Given the description of an element on the screen output the (x, y) to click on. 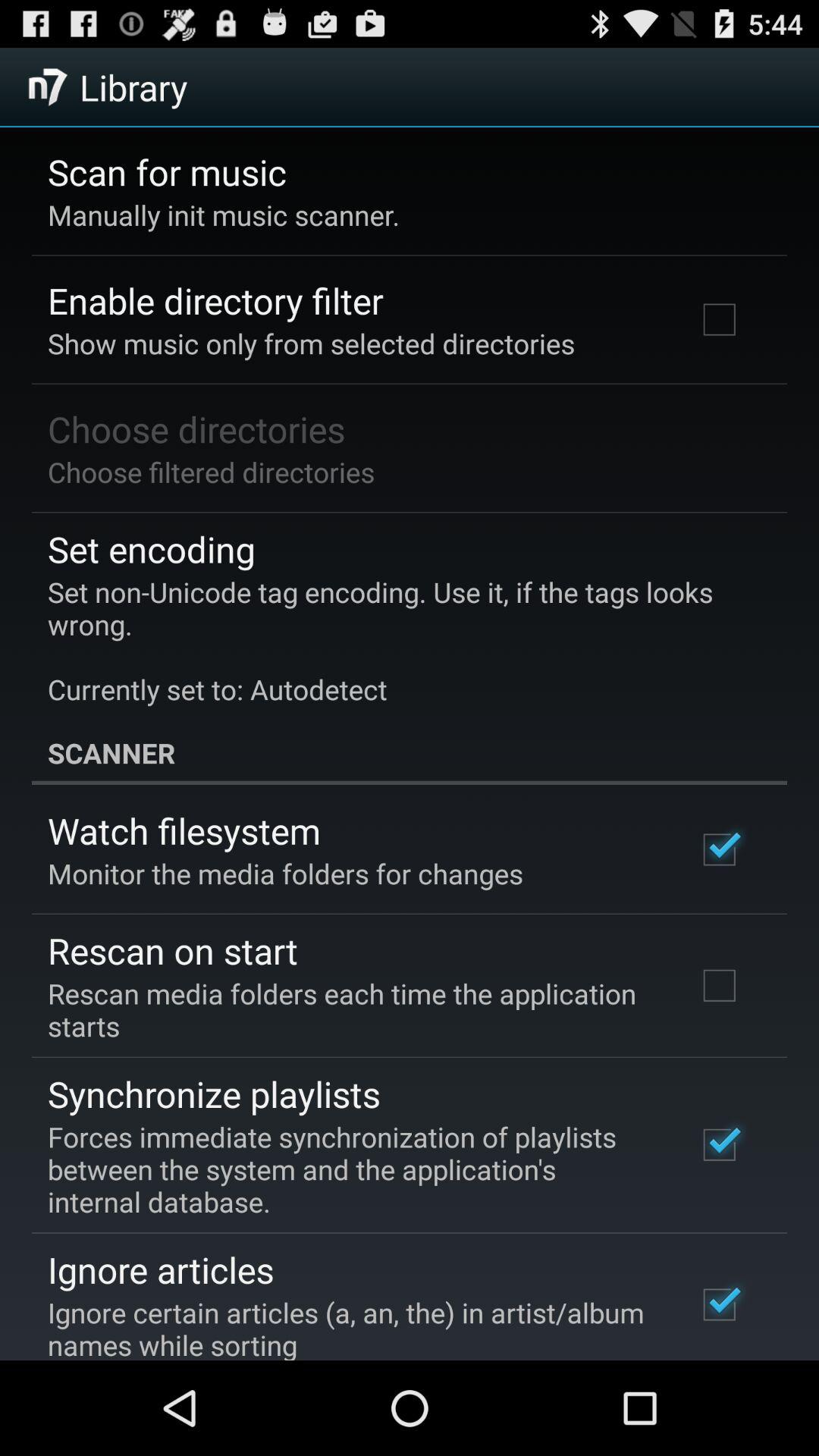
select synchronize playlists app (213, 1093)
